Given the description of an element on the screen output the (x, y) to click on. 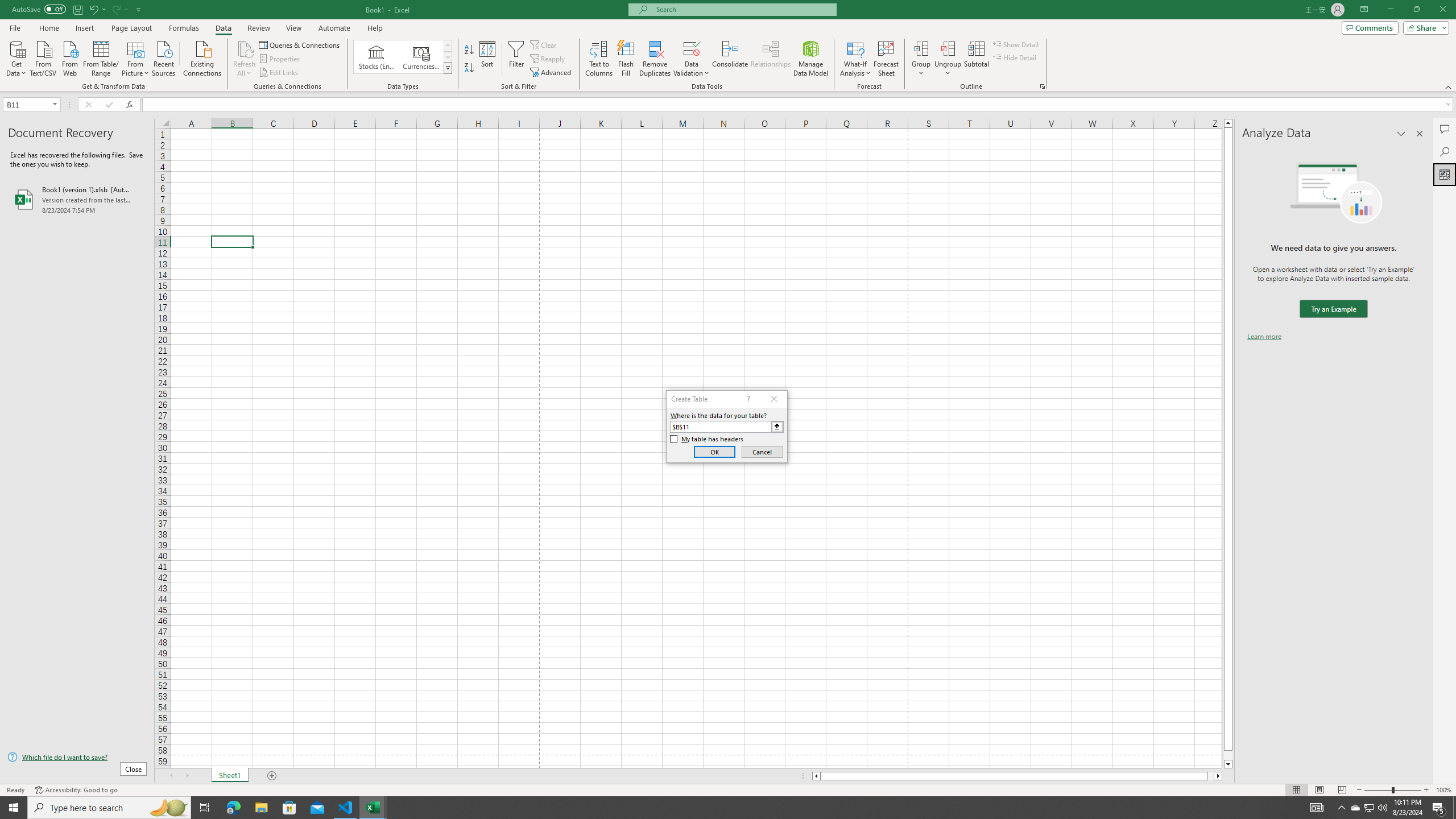
Class: MsoCommandBar (728, 45)
Group... (921, 58)
Clear (544, 44)
Data Types (448, 67)
Existing Connections (202, 57)
Flash Fill (625, 58)
Sort A to Z (469, 49)
